Given the description of an element on the screen output the (x, y) to click on. 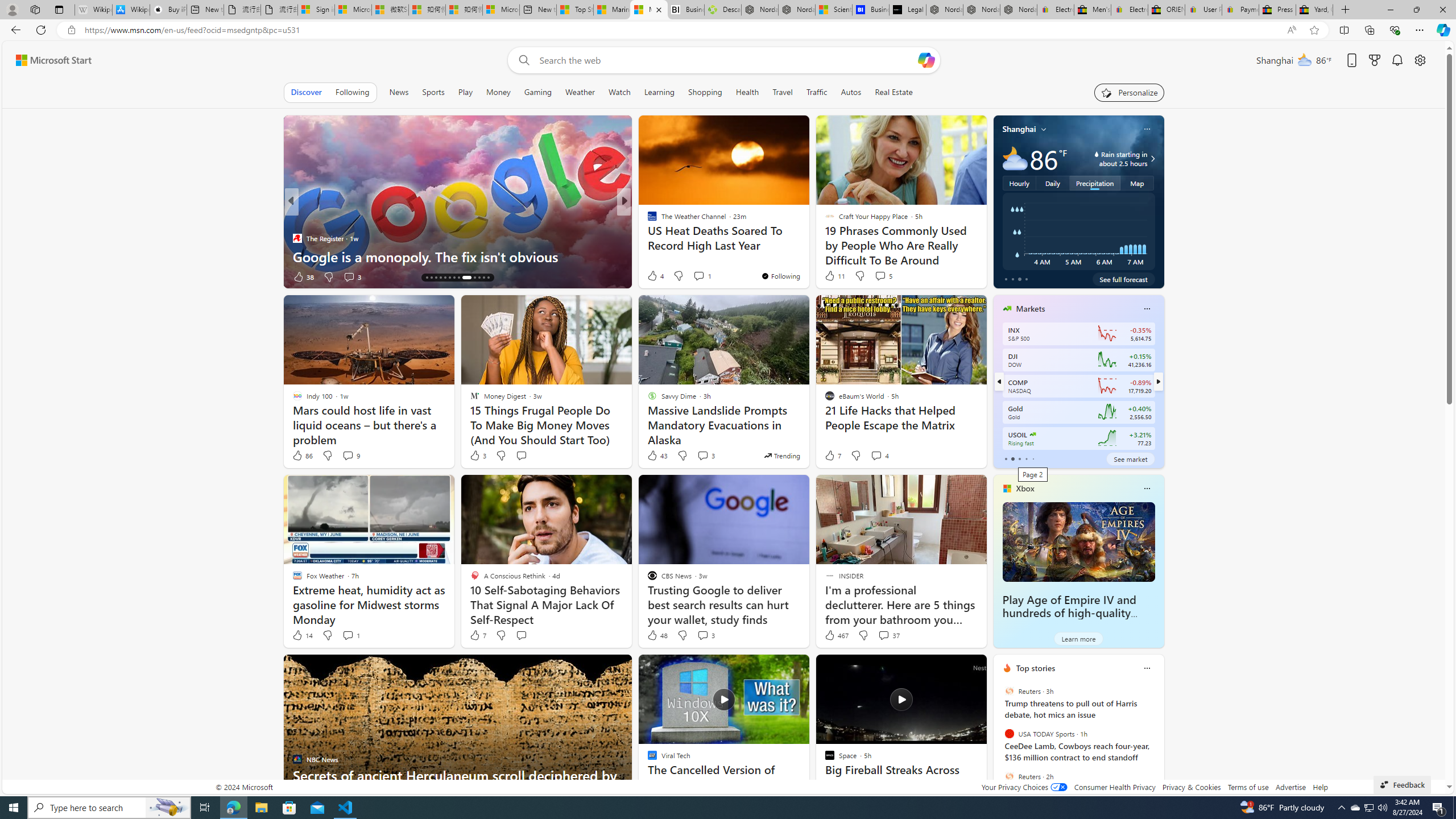
See full forecast (1123, 278)
View comments 35 Comment (707, 276)
Mostly cloudy (1014, 158)
'Pretty spectacular' discovery in George Washington's cellar (807, 247)
Precipitation (1094, 183)
